Given the description of an element on the screen output the (x, y) to click on. 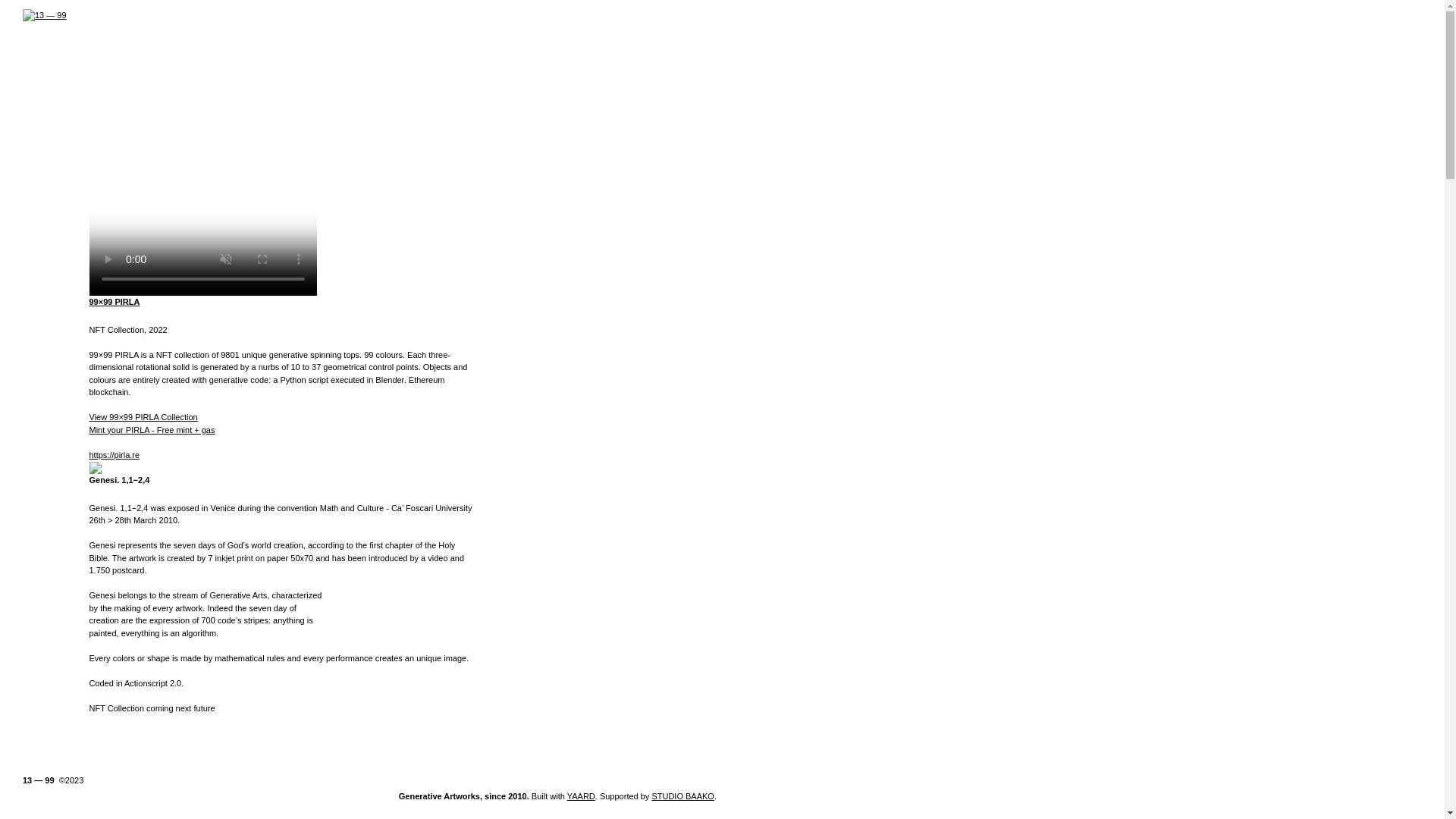
Mint your PIRLA - Free mint + gas Element type: text (152, 428)
YAARD Element type: text (581, 795)
https://pirla.re Element type: text (114, 454)
STUDIO BAAKO Element type: text (682, 795)
